Given the description of an element on the screen output the (x, y) to click on. 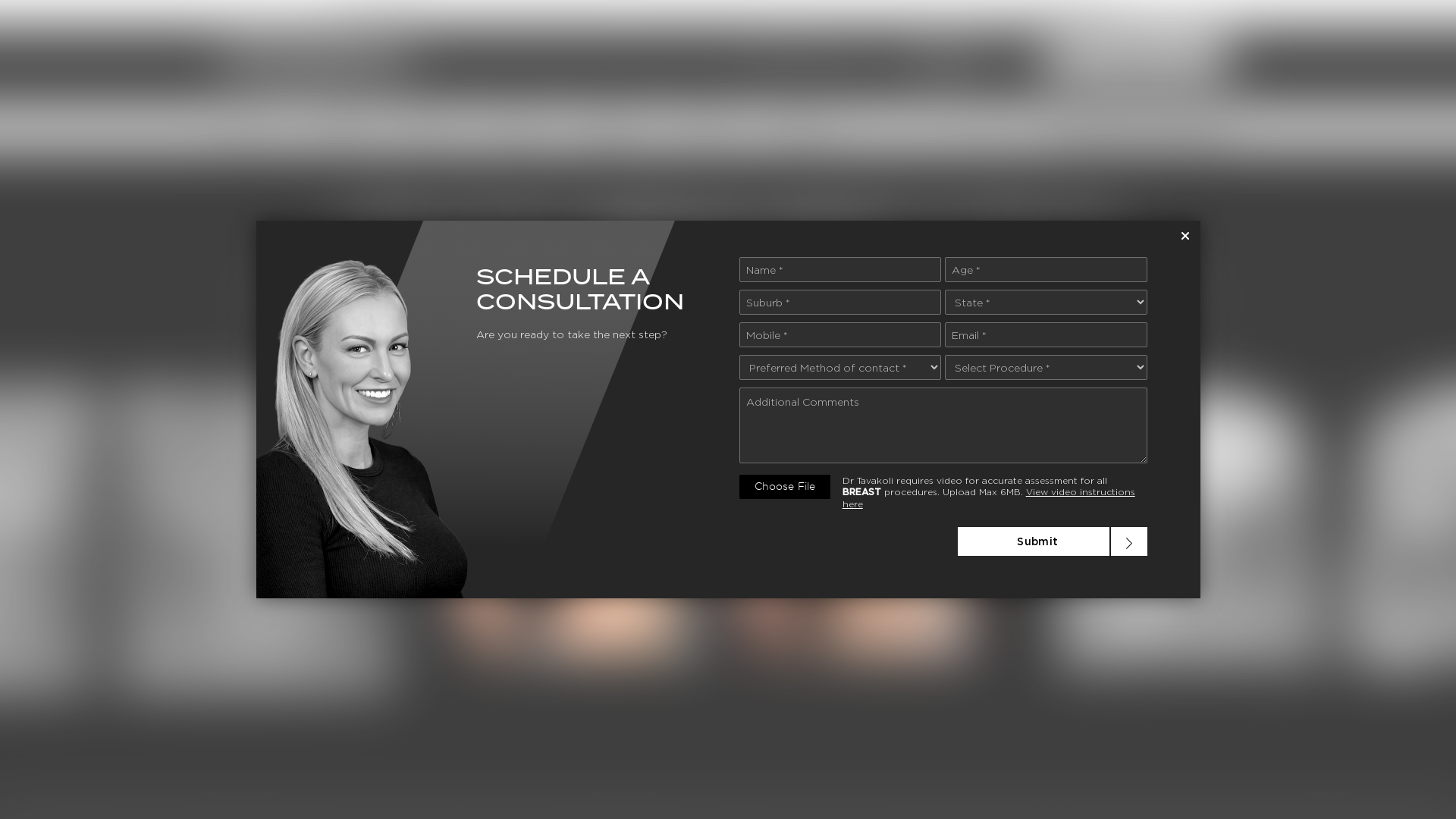
MED0001166578 Element type: text (383, 11)
Body Element type: text (432, 128)
Read more here Element type: text (1073, 11)
About Element type: text (520, 128)
Book a Consultation Element type: text (1135, 59)
1300 368 107 Element type: text (811, 59)
Contact Element type: text (804, 128)
View video instructions here Element type: text (988, 497)
Submit Element type: text (1051, 541)
Search Element type: text (1210, 128)
Breast Element type: text (342, 128)
English Element type: text (955, 59)
Media Element type: text (708, 128)
risks Element type: text (631, 805)
Home Element type: text (252, 128)
Gallery Element type: text (615, 128)
